Given the description of an element on the screen output the (x, y) to click on. 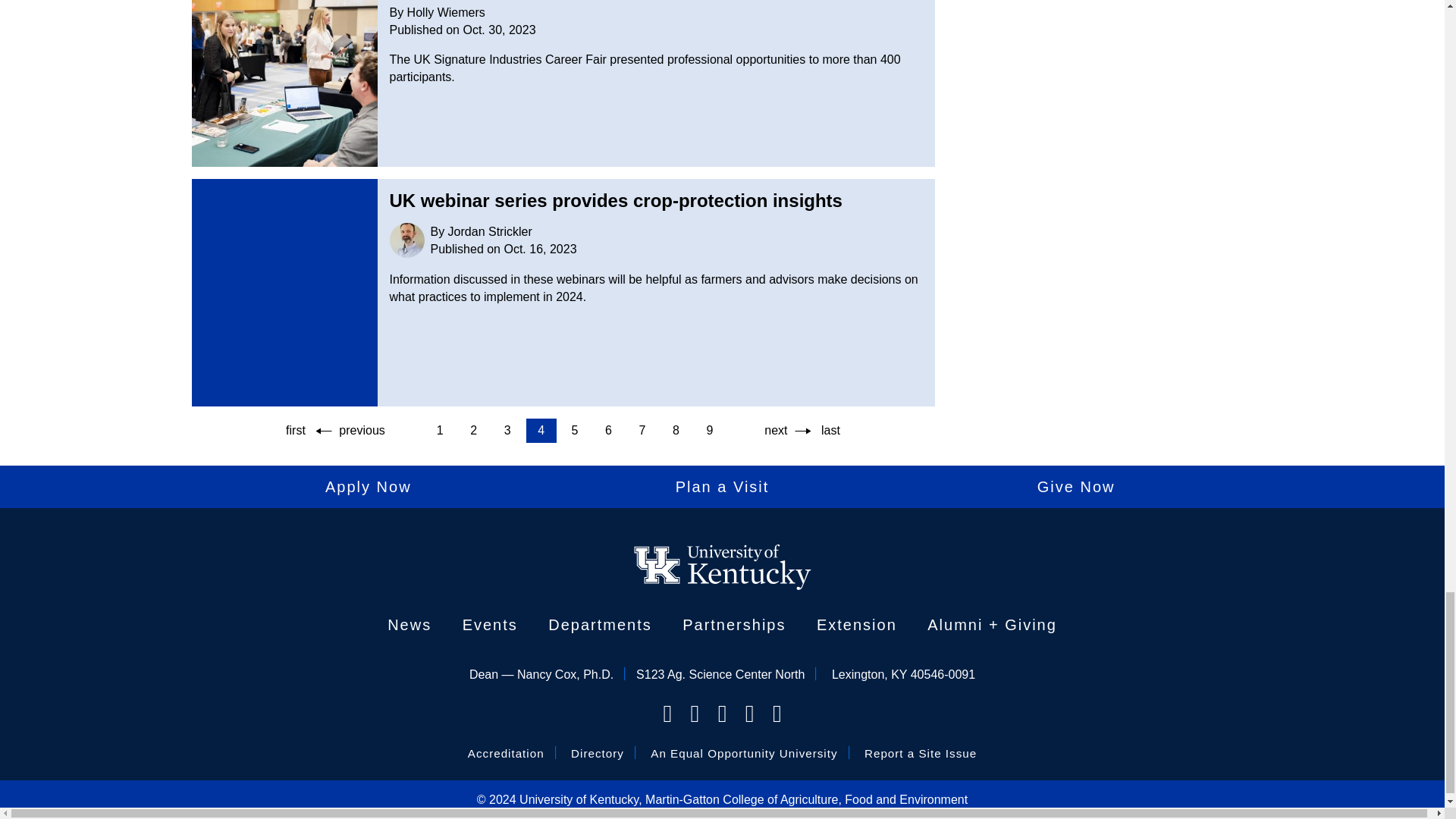
Go to page 2 (473, 430)
Go to first page (295, 430)
Go to page 8 (675, 430)
Go to last page (830, 430)
Go to page 3 (507, 430)
Go to page 5 (574, 430)
Go to page 7 (642, 430)
Go to next page (784, 430)
Go to page 9 (709, 430)
Go to previous page (352, 430)
